Given the description of an element on the screen output the (x, y) to click on. 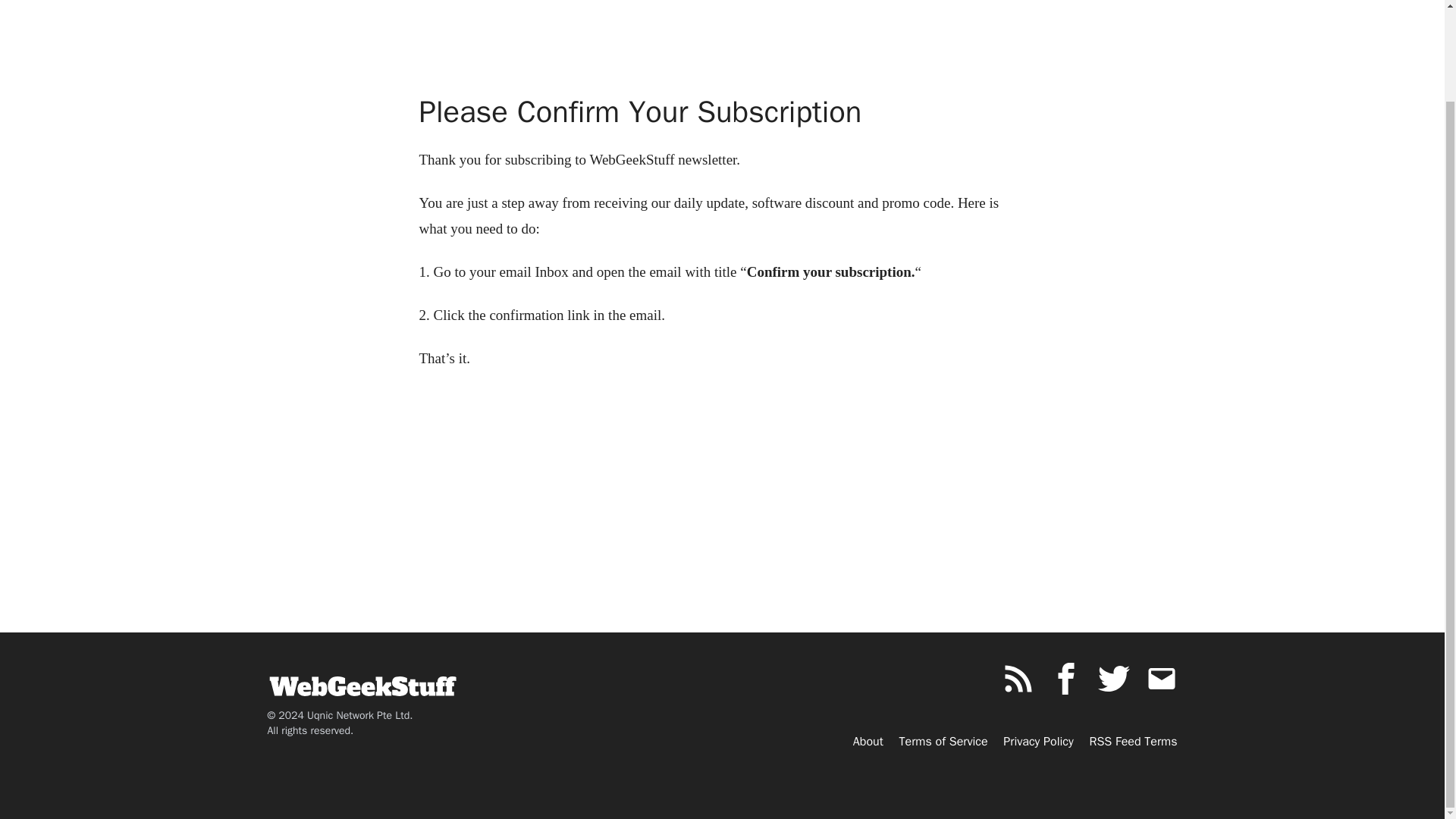
RSS Feed Terms (1132, 741)
Privacy Policy (1038, 741)
About (868, 741)
Terms of Service (943, 741)
